Given the description of an element on the screen output the (x, y) to click on. 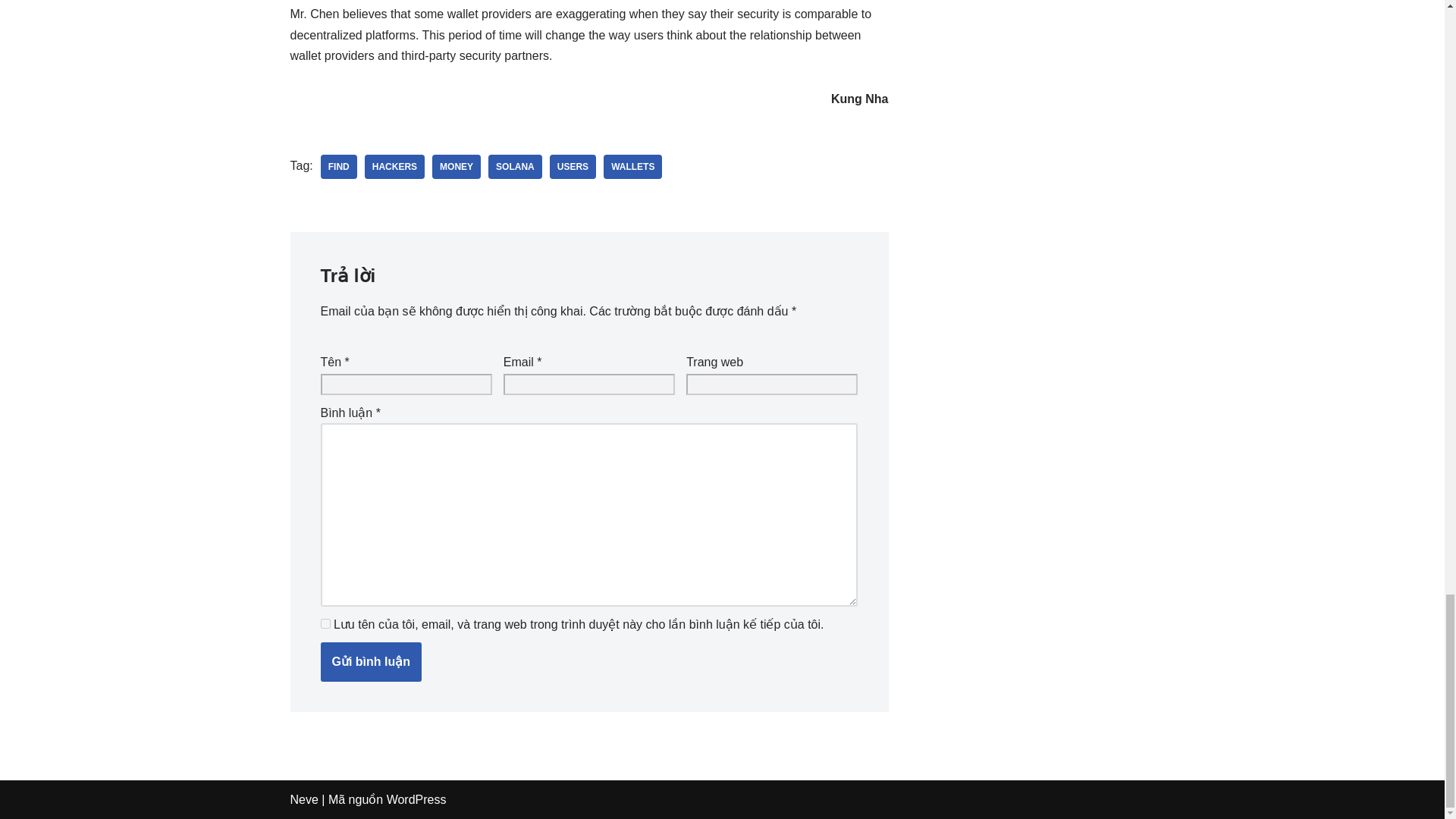
SOLANA (514, 166)
Solana (514, 166)
find (338, 166)
yes (325, 623)
FIND (338, 166)
HACKERS (395, 166)
WALLETS (633, 166)
Users (572, 166)
wallets (633, 166)
money (456, 166)
